Given the description of an element on the screen output the (x, y) to click on. 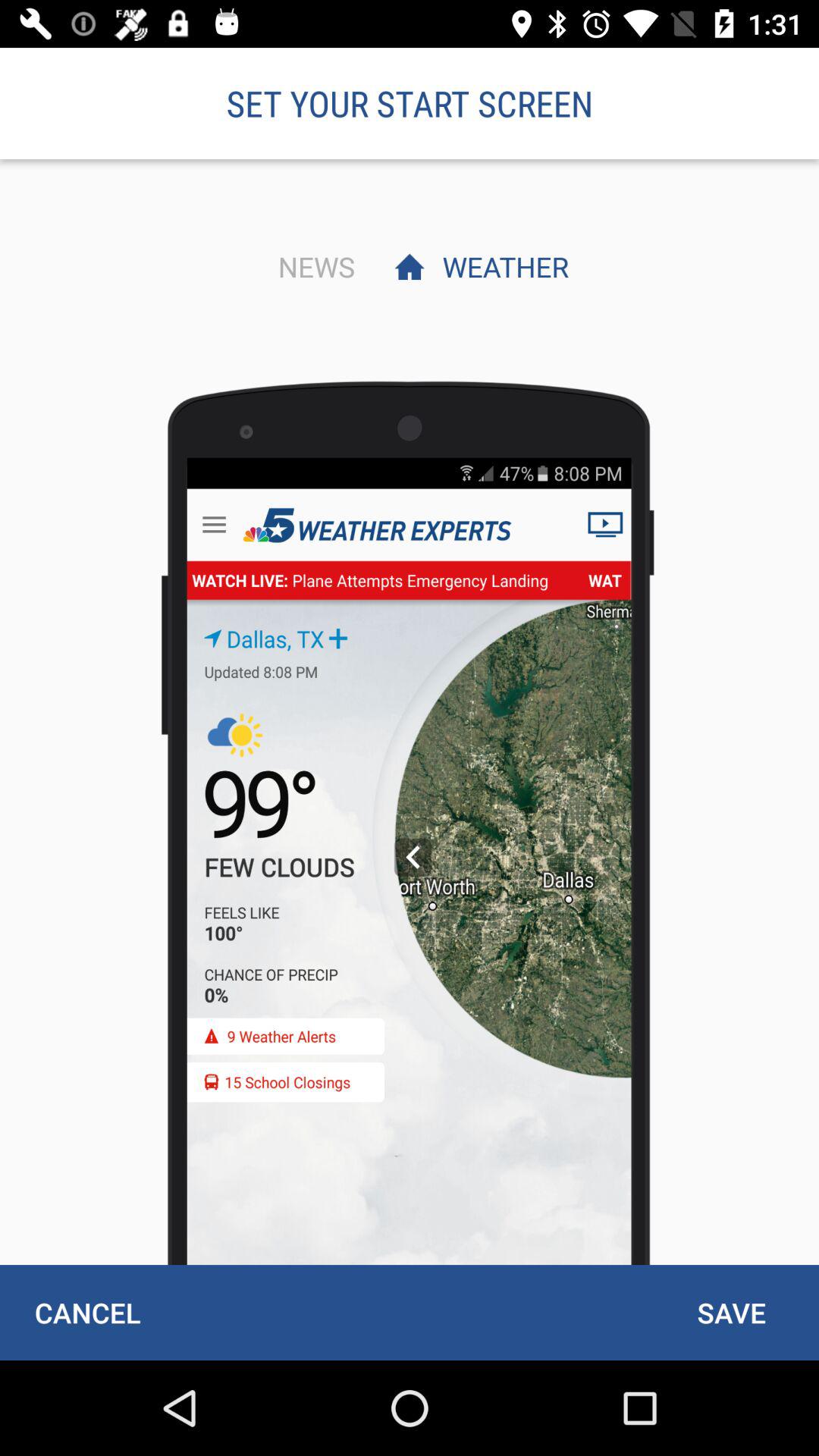
turn on the icon to the right of cancel (731, 1312)
